Given the description of an element on the screen output the (x, y) to click on. 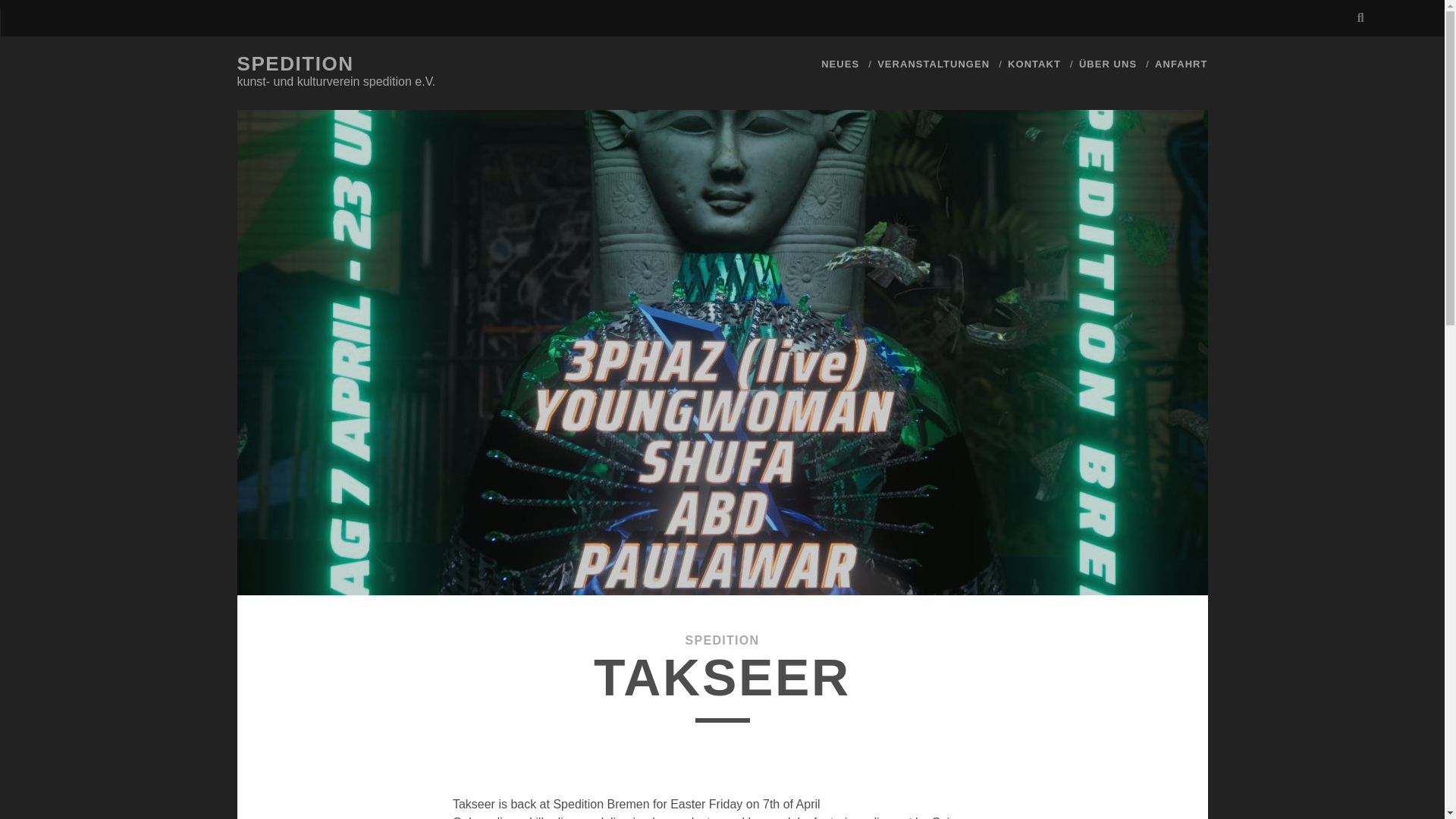
NEUES (840, 64)
VERANSTALTUNGEN (933, 64)
SPEDITION (294, 63)
ANFAHRT (1180, 64)
KONTAKT (1034, 64)
SPEDITION (722, 640)
